Given the description of an element on the screen output the (x, y) to click on. 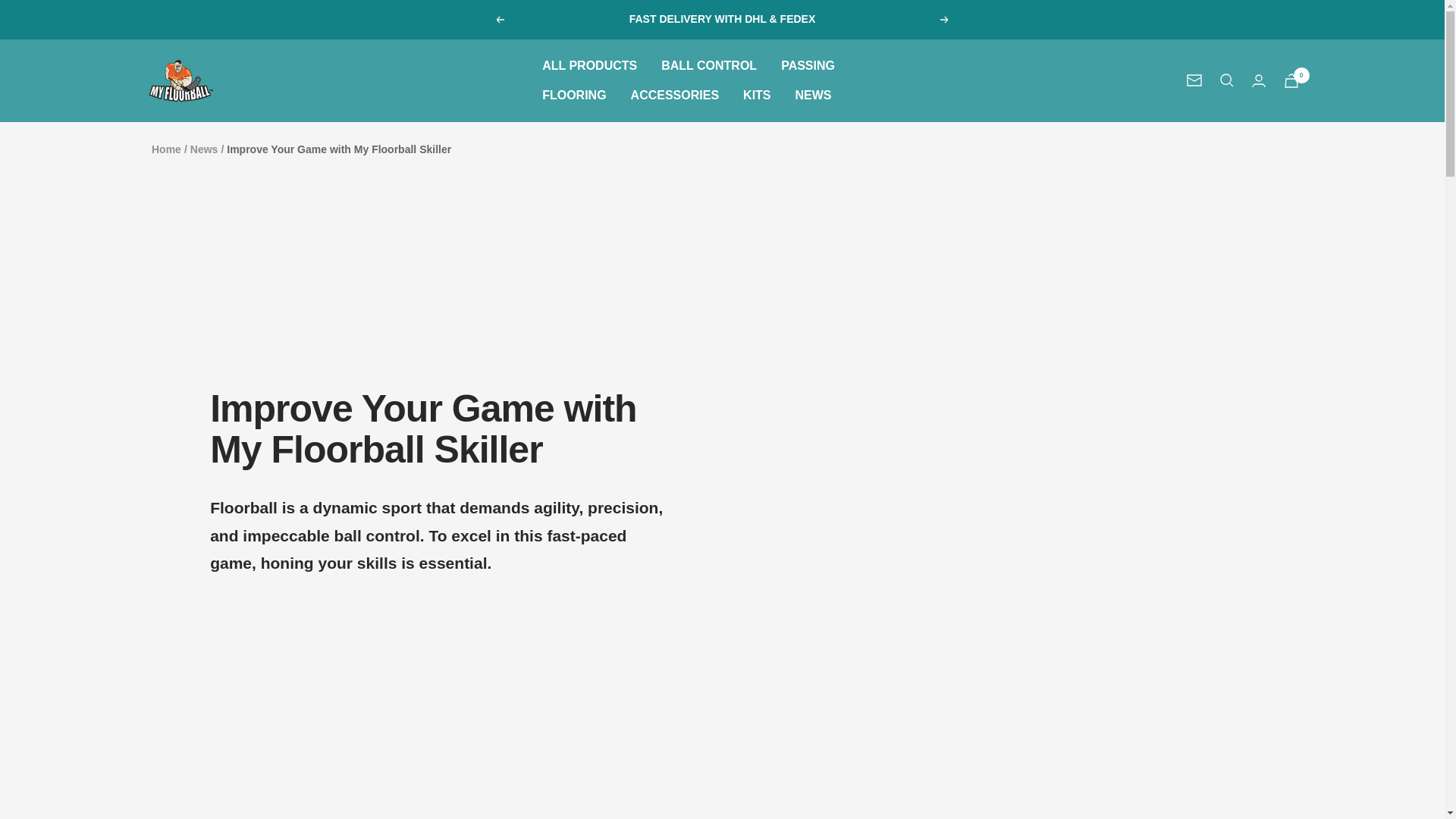
Newsletter (1194, 80)
ACCESSORIES (674, 95)
Next (944, 19)
NEWS (812, 95)
PASSING (807, 65)
Home (165, 149)
KITS (756, 95)
ALL PRODUCTS (589, 65)
News (204, 149)
Previous (499, 19)
